Given the description of an element on the screen output the (x, y) to click on. 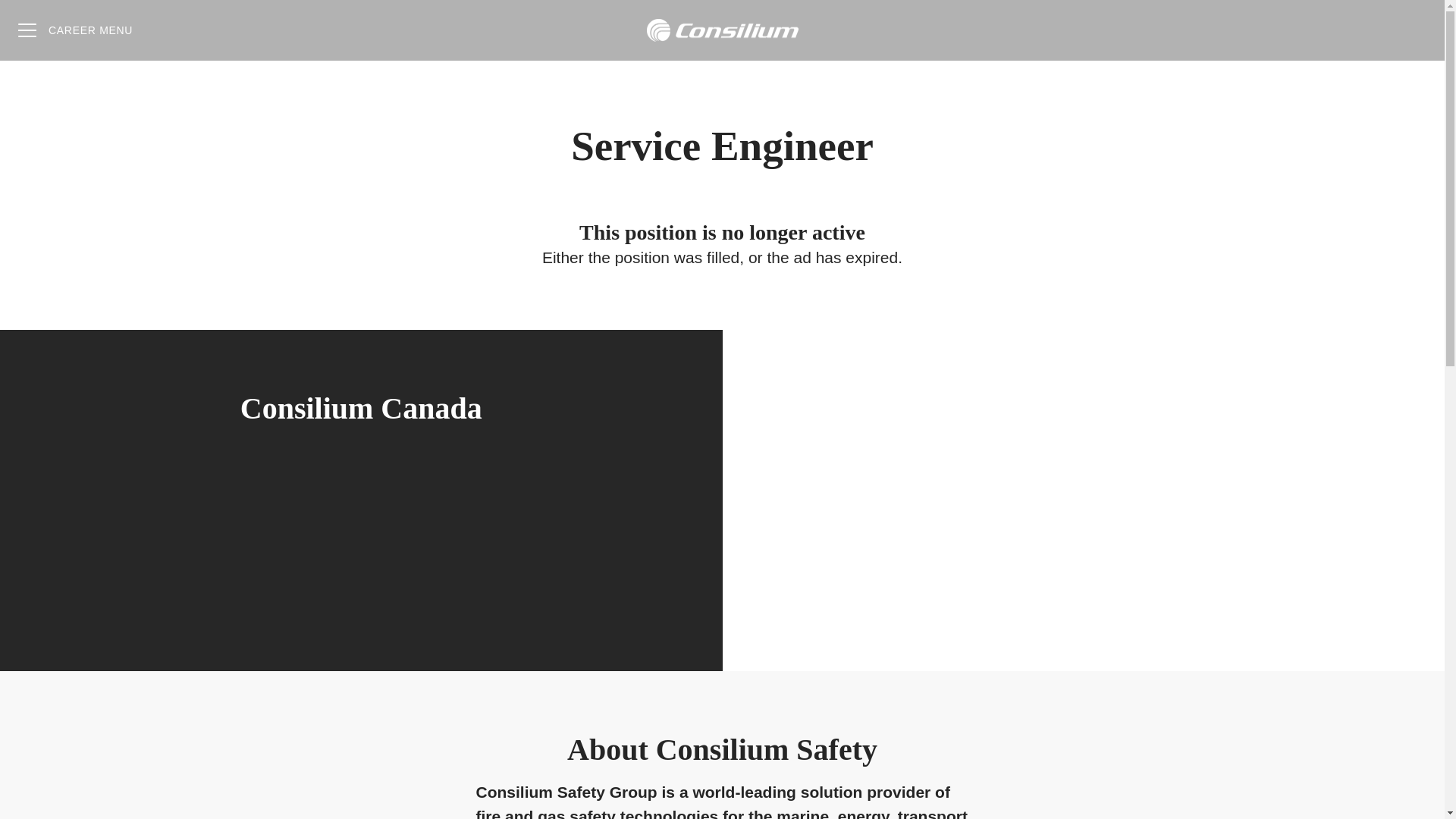
Share page (1414, 30)
CAREER MENU (74, 30)
Career menu (74, 30)
